Given the description of an element on the screen output the (x, y) to click on. 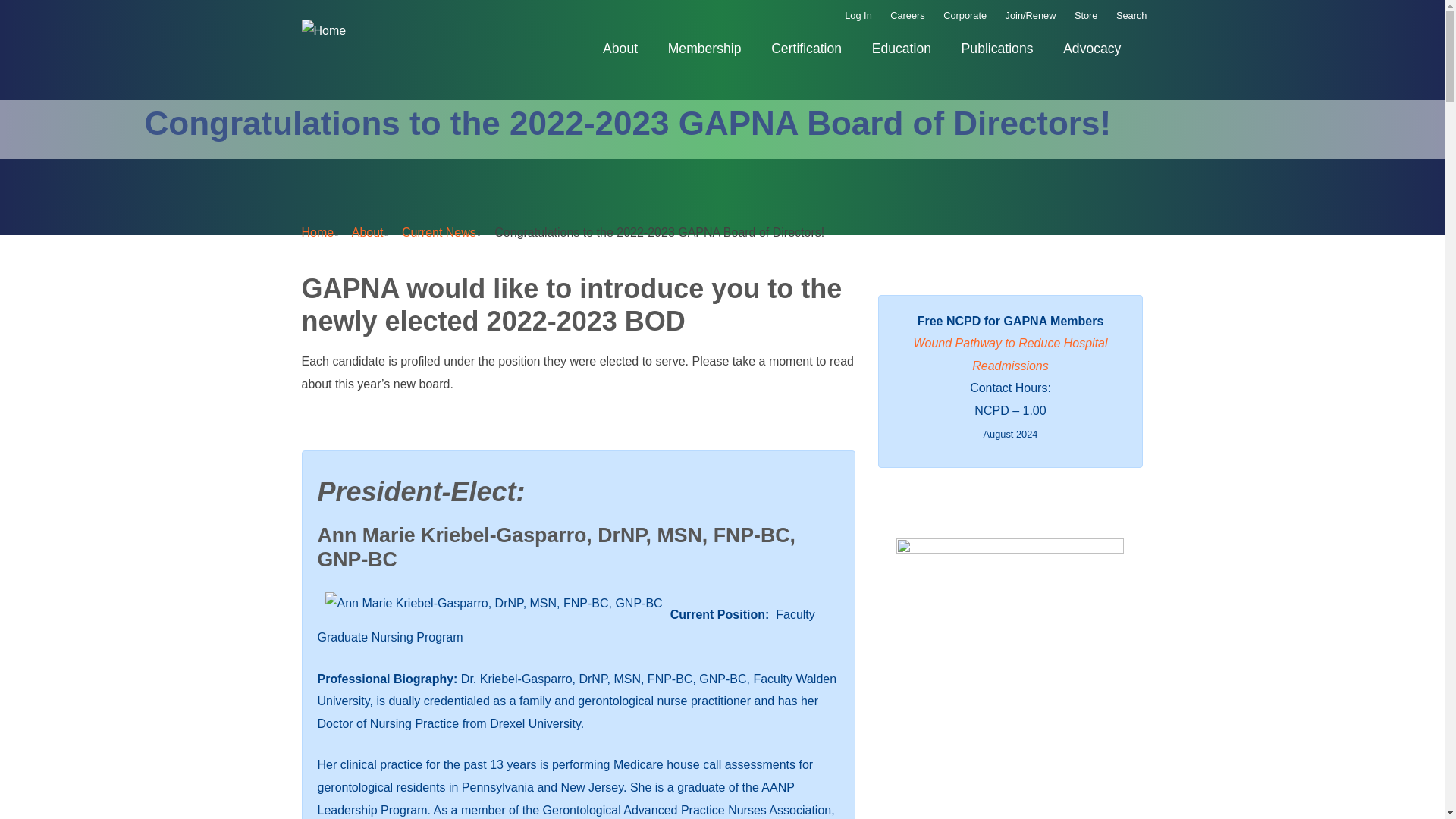
Membership (703, 49)
Publications (996, 49)
Home (323, 29)
Read more (1009, 354)
Certification (807, 49)
About (619, 49)
Education (901, 49)
Ann Marie Kriebel-Gasparro, DrNP, MSN, FNP-BC, GNP-BC (493, 603)
